Given the description of an element on the screen output the (x, y) to click on. 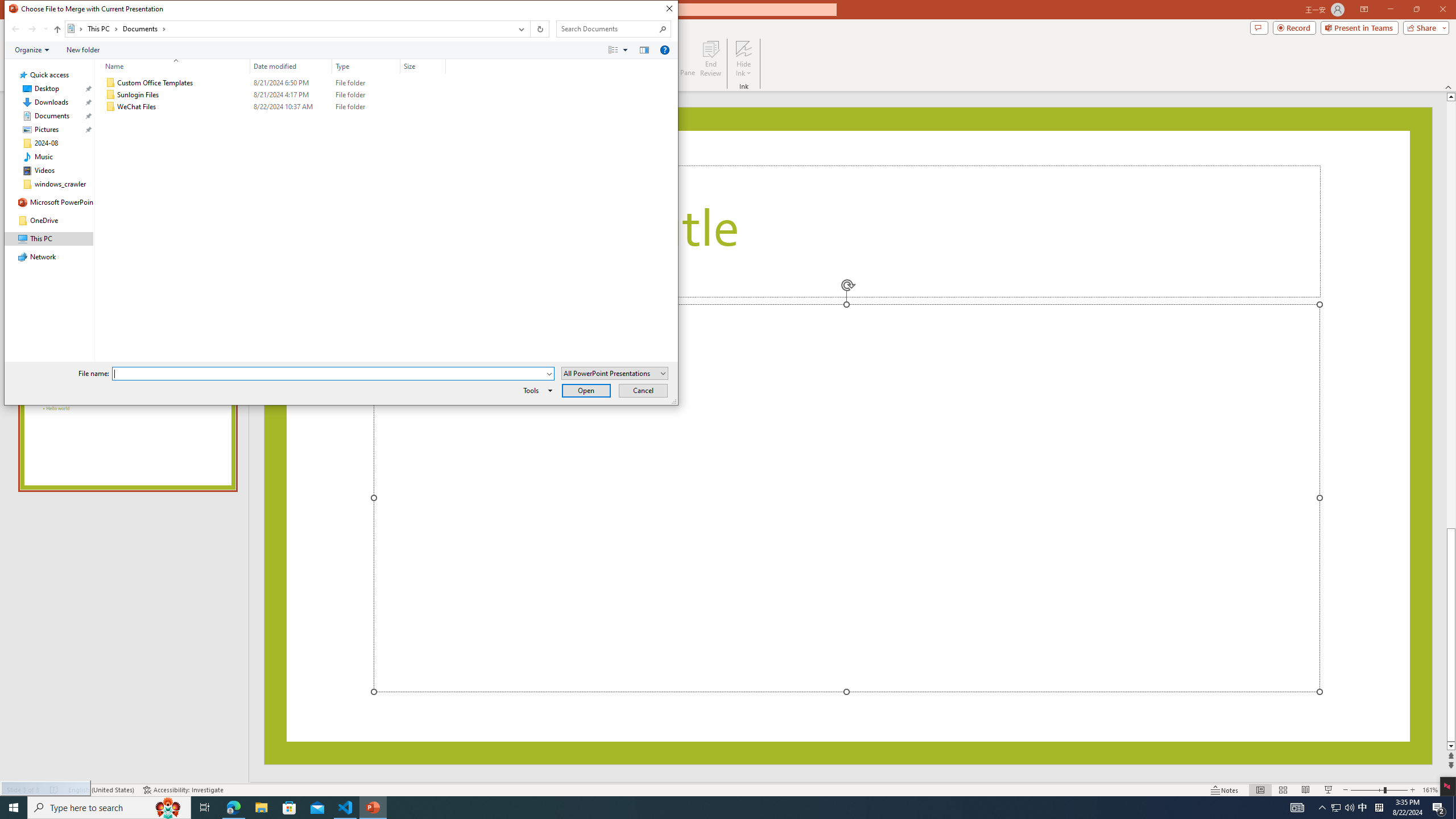
Zoom 161% (1430, 790)
Hide Ink (743, 48)
Type (365, 65)
Name (183, 106)
Accessibility Checker Accessibility: Investigate (183, 790)
All locations (75, 28)
Task View (204, 807)
PowerPoint - 1 running window (373, 807)
Address band toolbar (529, 28)
Custom Office Templates (273, 82)
Microsoft Edge - 1 running window (233, 807)
Search Box (607, 28)
